Given the description of an element on the screen output the (x, y) to click on. 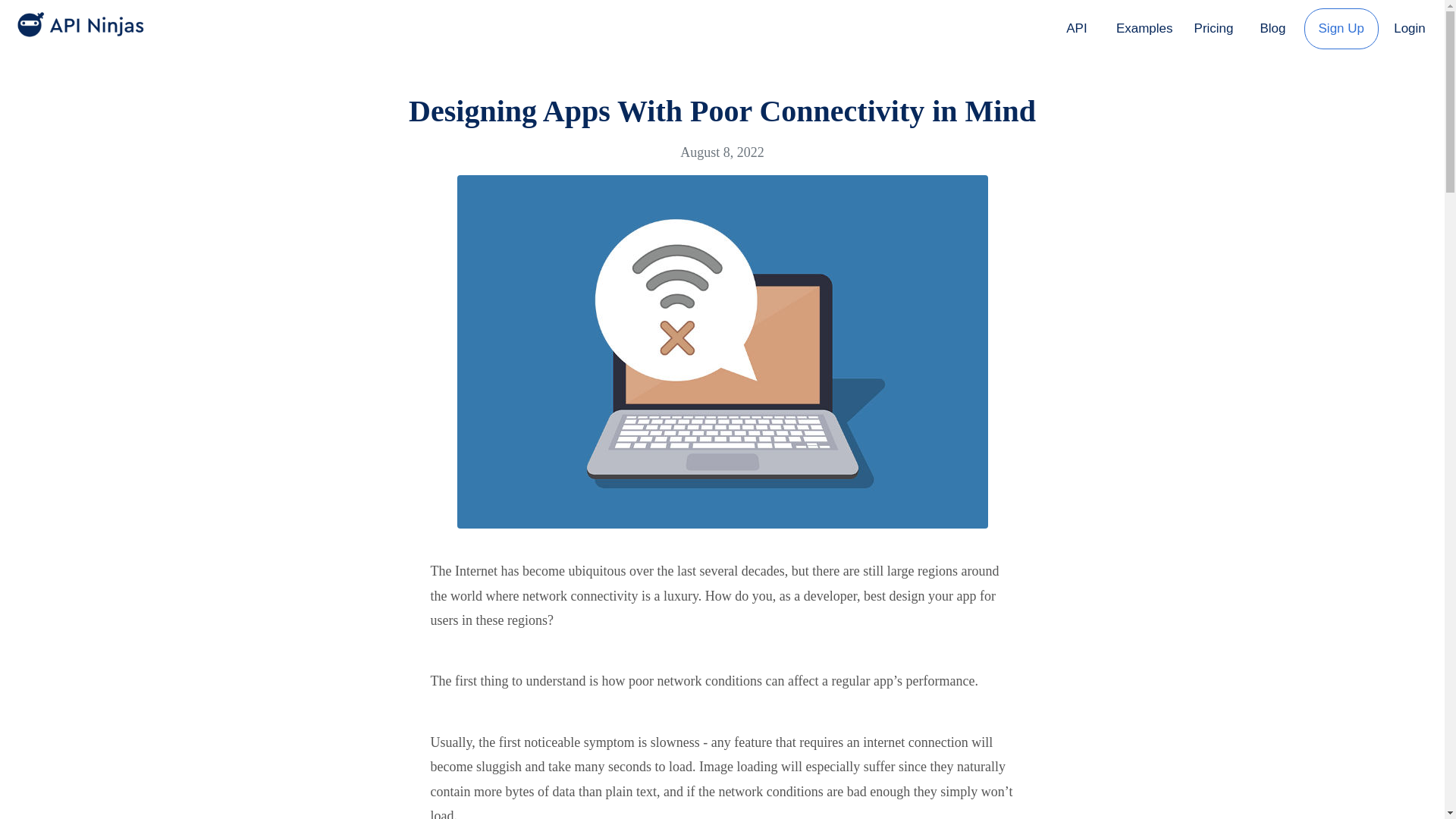
Sign Up (1341, 28)
Examples (1144, 28)
Blog (1272, 25)
Login (1409, 25)
API (1076, 25)
Blog (1273, 28)
Sign Up (1340, 25)
API (1076, 28)
Login (1409, 28)
Examples (1144, 25)
Pricing (1213, 28)
Pricing (1213, 25)
